Given the description of an element on the screen output the (x, y) to click on. 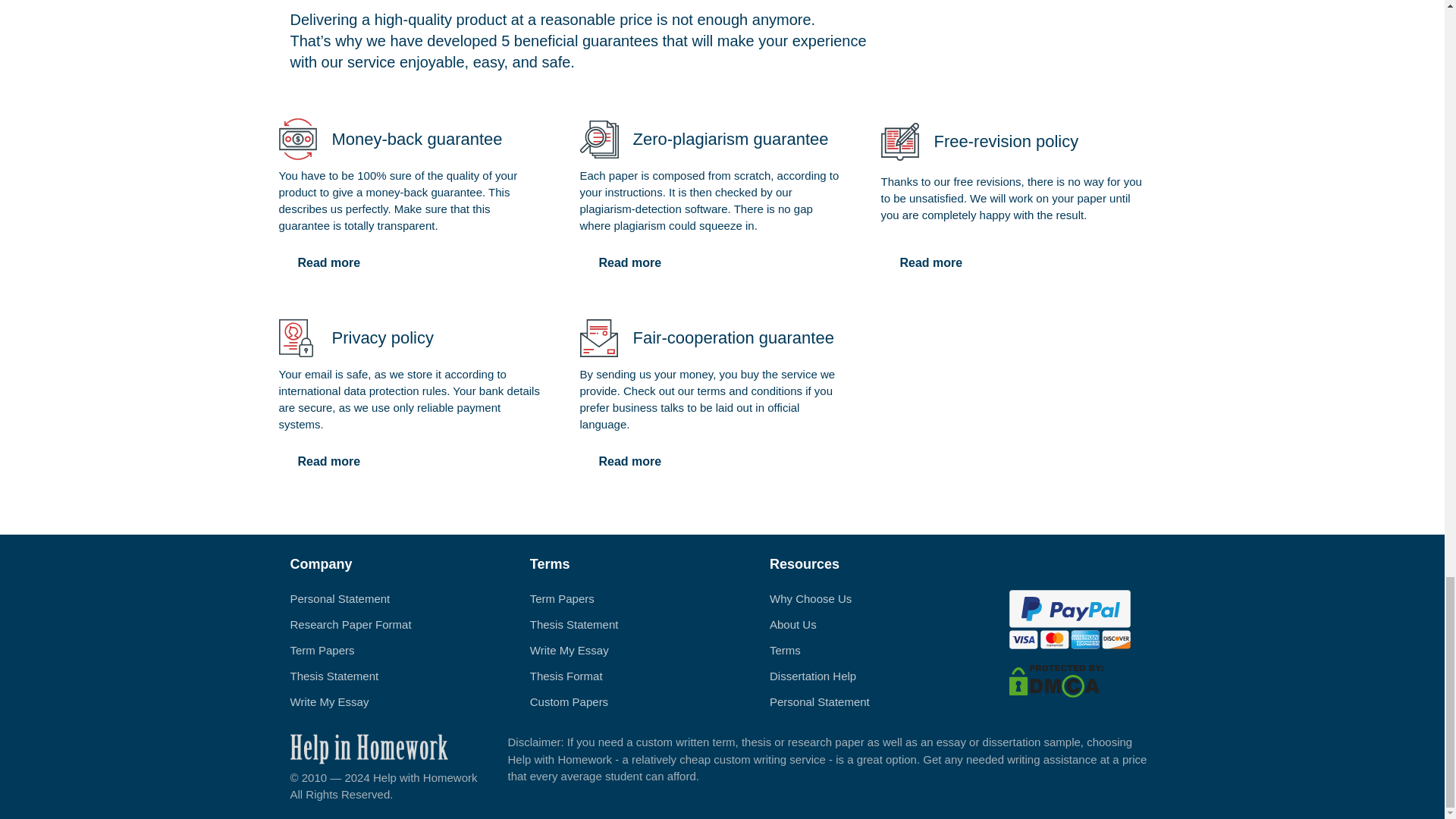
Thesis Statement (333, 675)
Read more (629, 263)
Write My Essay (328, 701)
Personal Statement (339, 598)
Read more (930, 263)
Thesis Statement (573, 624)
Term Papers (321, 649)
Research Paper Format (349, 624)
DMCA (1056, 679)
Read more (629, 461)
Term Papers (561, 598)
Read more (329, 263)
Read more (329, 461)
